Given the description of an element on the screen output the (x, y) to click on. 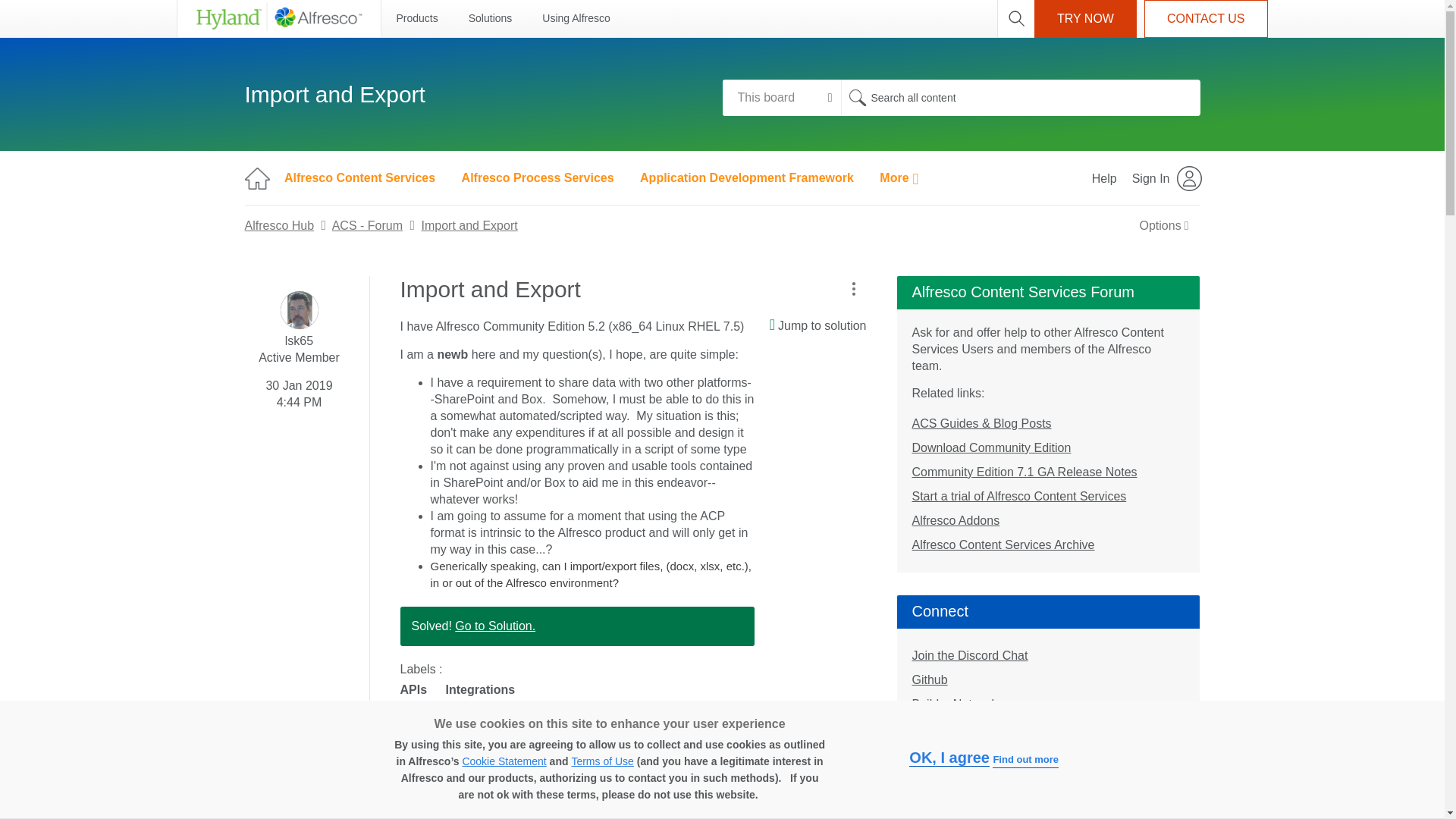
TRY NOW (1085, 18)
CONTACT US (1206, 18)
The total number of kudos this post has received. (452, 732)
Posted on (298, 390)
Search (856, 97)
Alfresco (278, 18)
Search (1019, 97)
lsk65 (299, 310)
Search Granularity (781, 97)
Application Development Framework (746, 177)
